Given the description of an element on the screen output the (x, y) to click on. 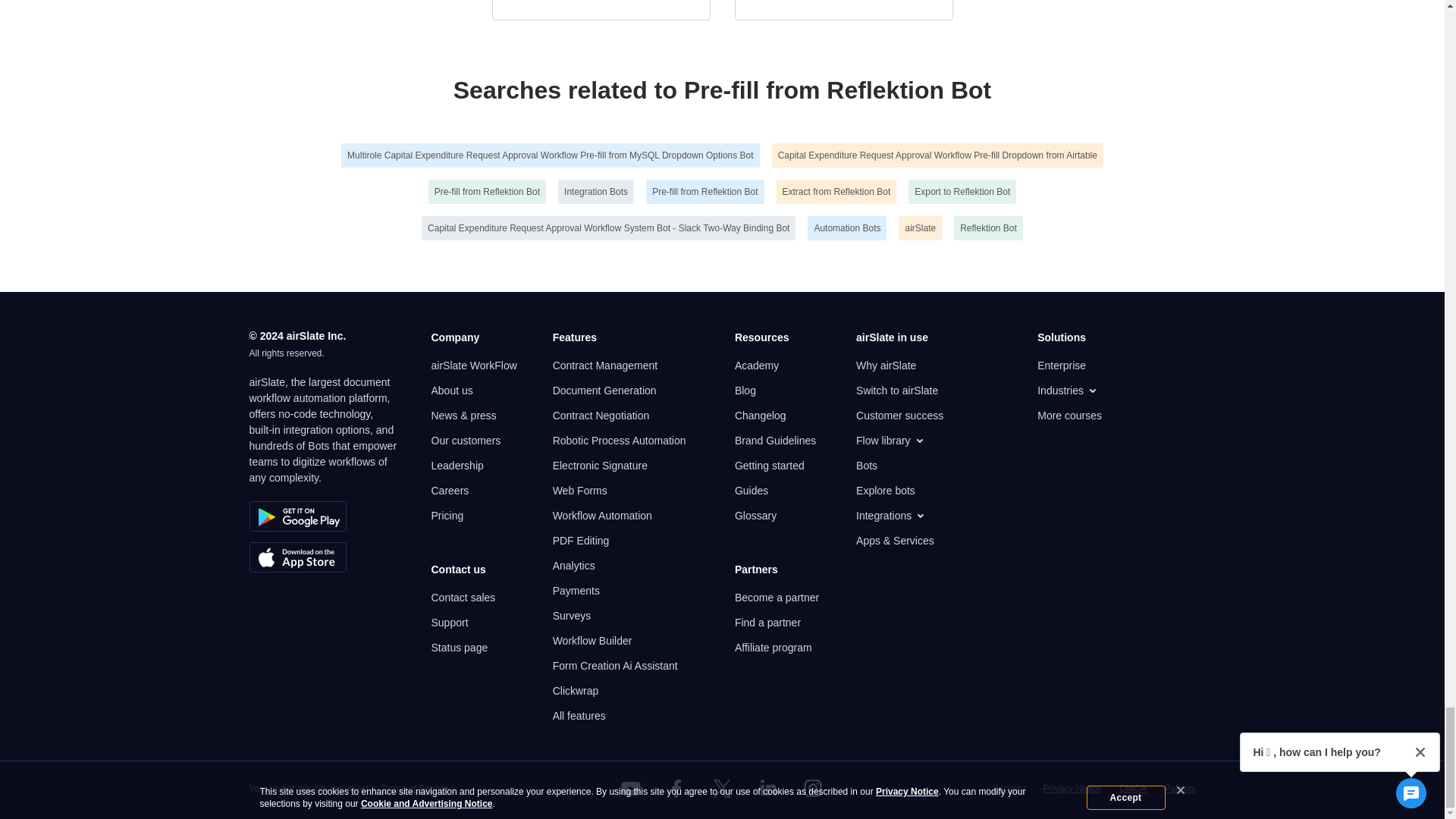
Facebook (676, 788)
LinkedIn (767, 788)
Instagram (812, 788)
YouTube (630, 788)
Twitter (721, 788)
